Given the description of an element on the screen output the (x, y) to click on. 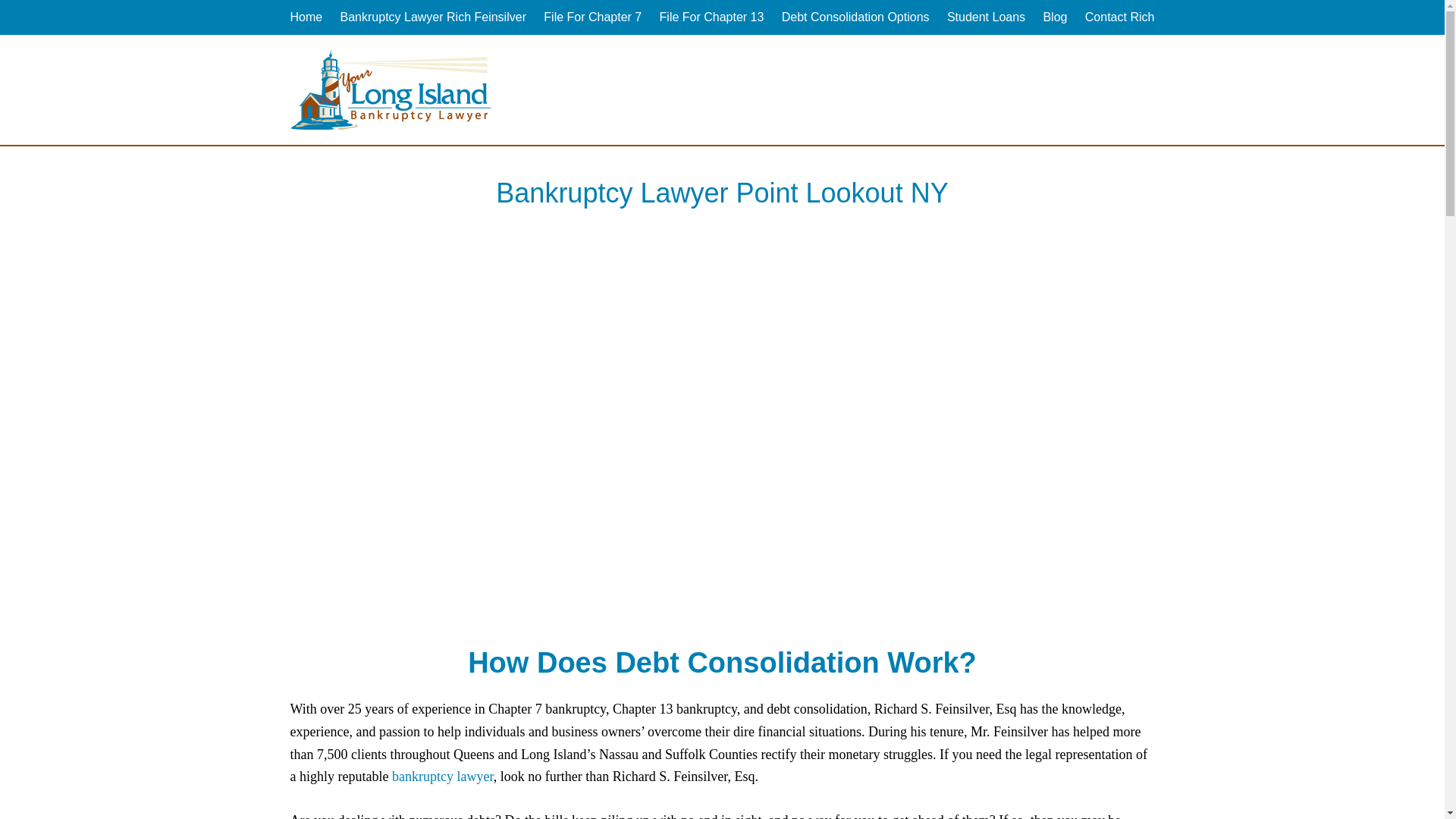
File For Chapter 7 (592, 17)
File For Chapter 13 (711, 17)
Debt Consolidation Options (855, 17)
Student Loans (986, 17)
Contact Rich (1119, 17)
bankruptcy lawyer (442, 776)
Home (305, 17)
Bankruptcy Lawyer Rich Feinsilver (432, 17)
